Given the description of an element on the screen output the (x, y) to click on. 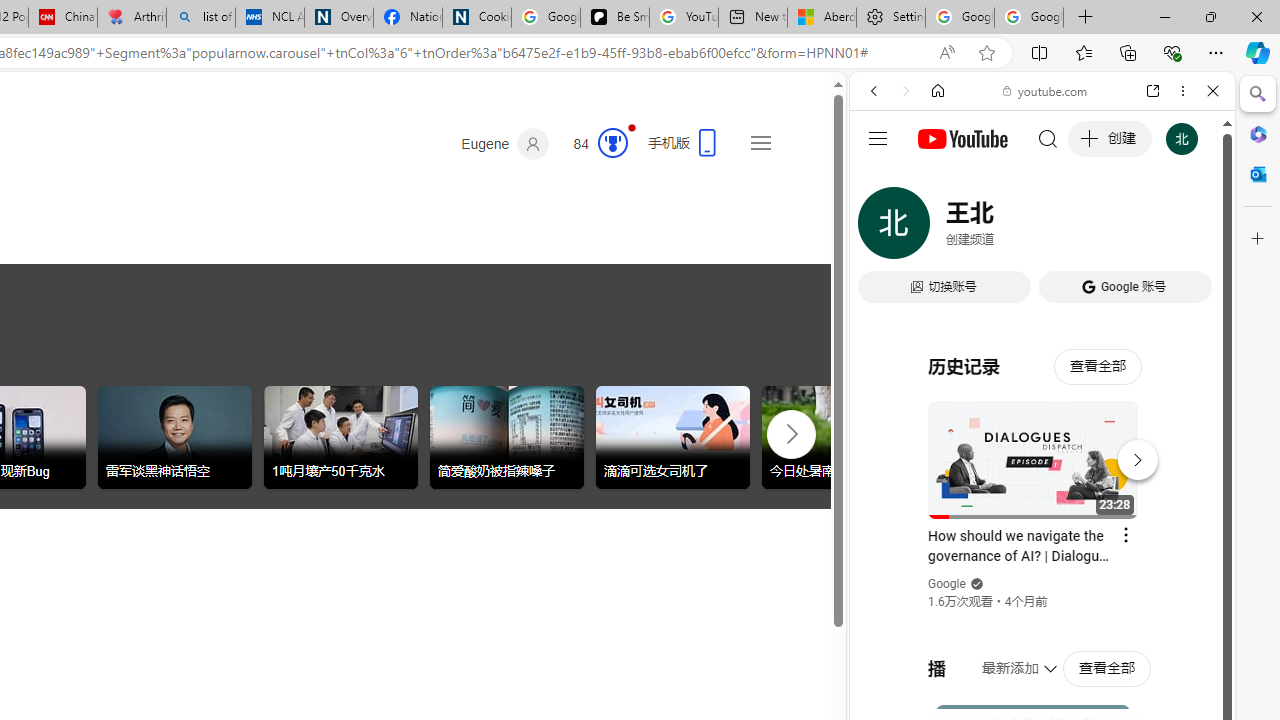
Trailer #2 [HD] (1042, 592)
Trailer #2 [HD] (1042, 594)
Animation (632, 127)
IMAGES (939, 228)
